Given the description of an element on the screen output the (x, y) to click on. 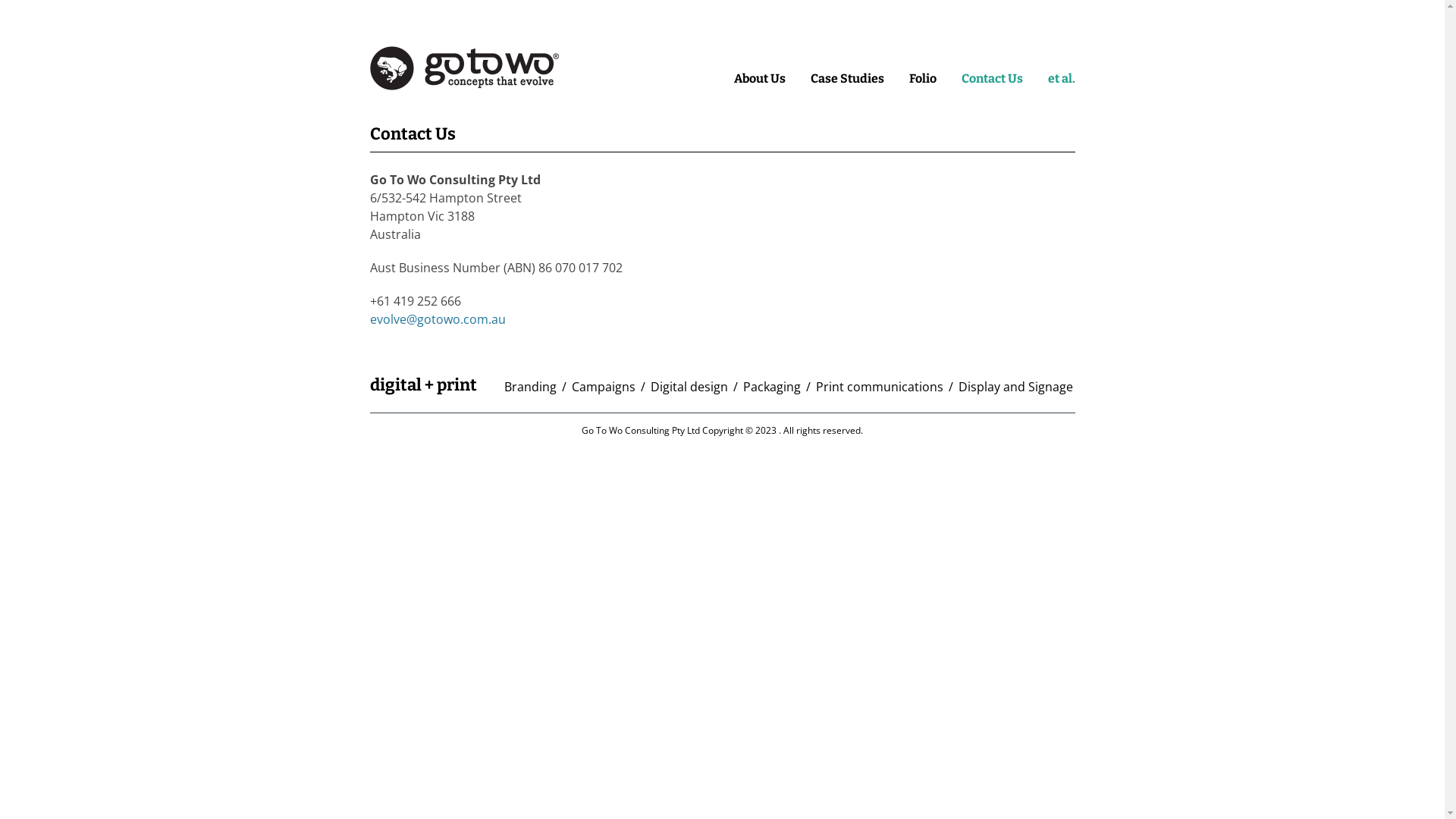
et al. Element type: text (1061, 78)
Go To Wo Element type: hover (464, 83)
Folio Element type: text (921, 78)
Skip to content Element type: text (754, 69)
evolve@gotowo.com.au Element type: text (437, 318)
Contact Us Element type: text (991, 78)
Case Studies Element type: text (846, 78)
About Us Element type: text (759, 78)
